Given the description of an element on the screen output the (x, y) to click on. 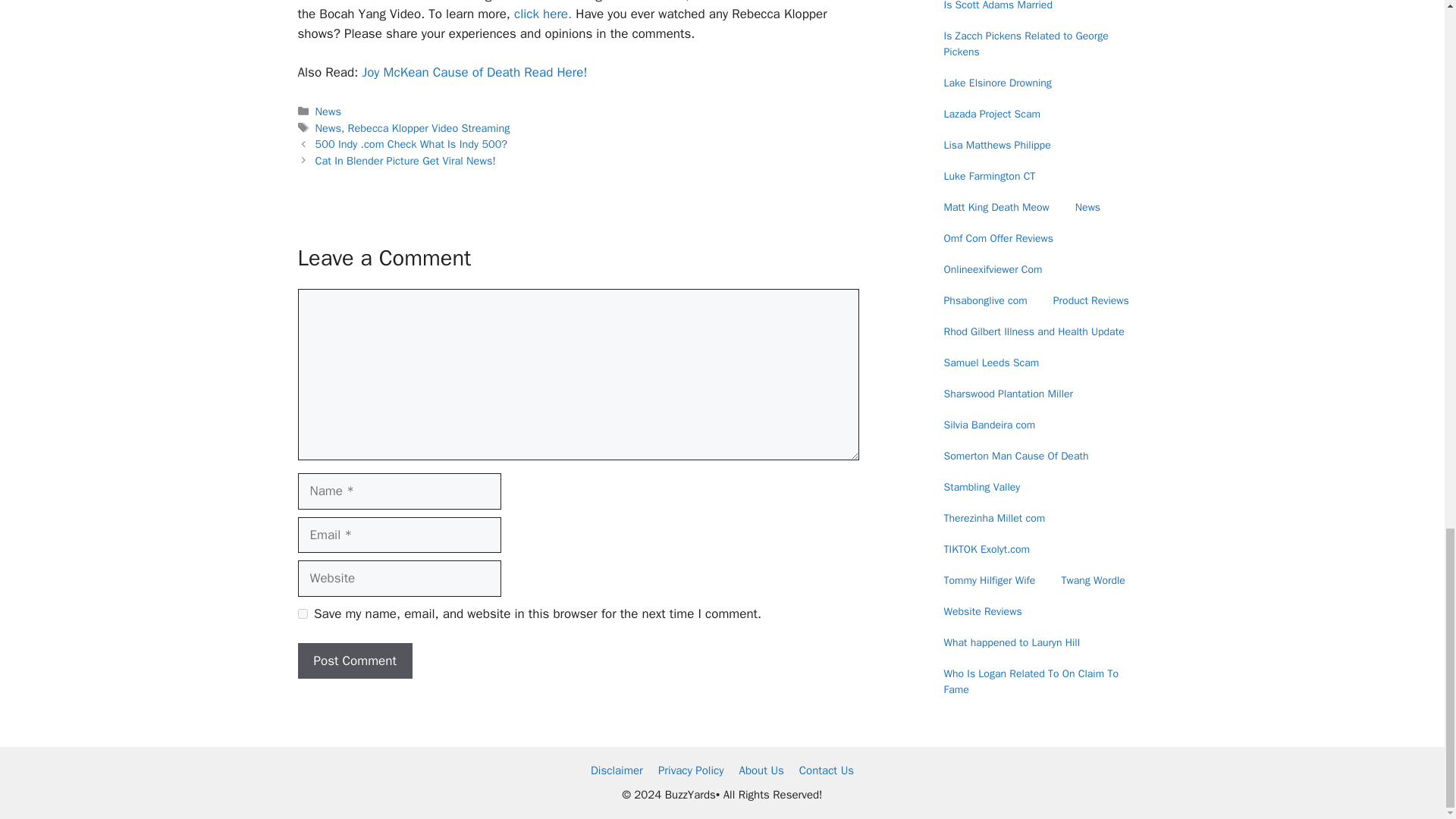
News (327, 128)
Joy McKean Cause of Death Read Here! (473, 72)
Cat In Blender Picture Get Viral News! (405, 160)
Post Comment (354, 660)
500 Indy .com Check What Is Indy 500? (411, 143)
Scroll back to top (1406, 22)
Post Comment (354, 660)
Rebecca Klopper Video Streaming (429, 128)
yes (302, 614)
click here.  (543, 13)
